Given the description of an element on the screen output the (x, y) to click on. 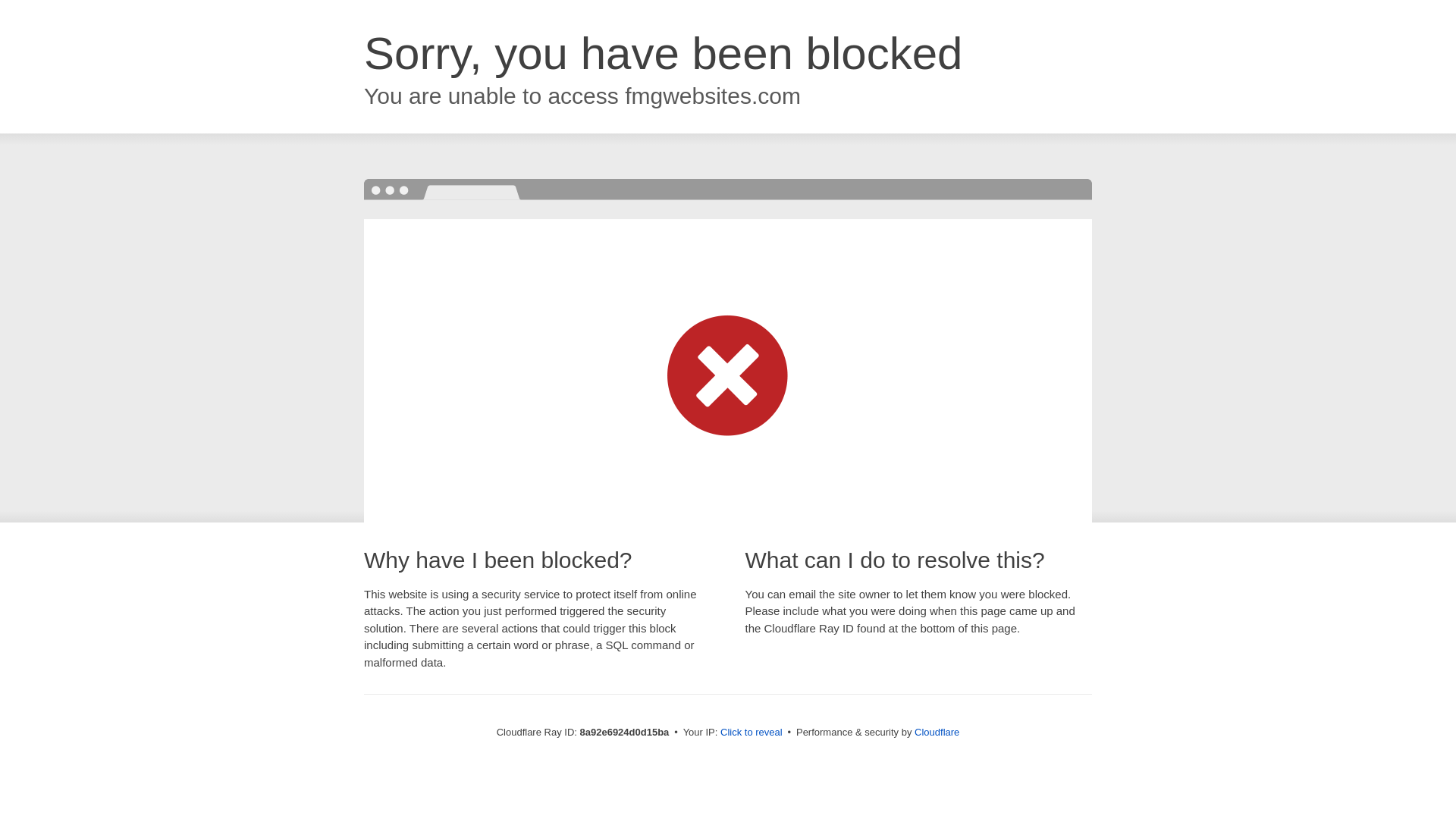
Click to reveal (751, 732)
Cloudflare (936, 731)
